Given the description of an element on the screen output the (x, y) to click on. 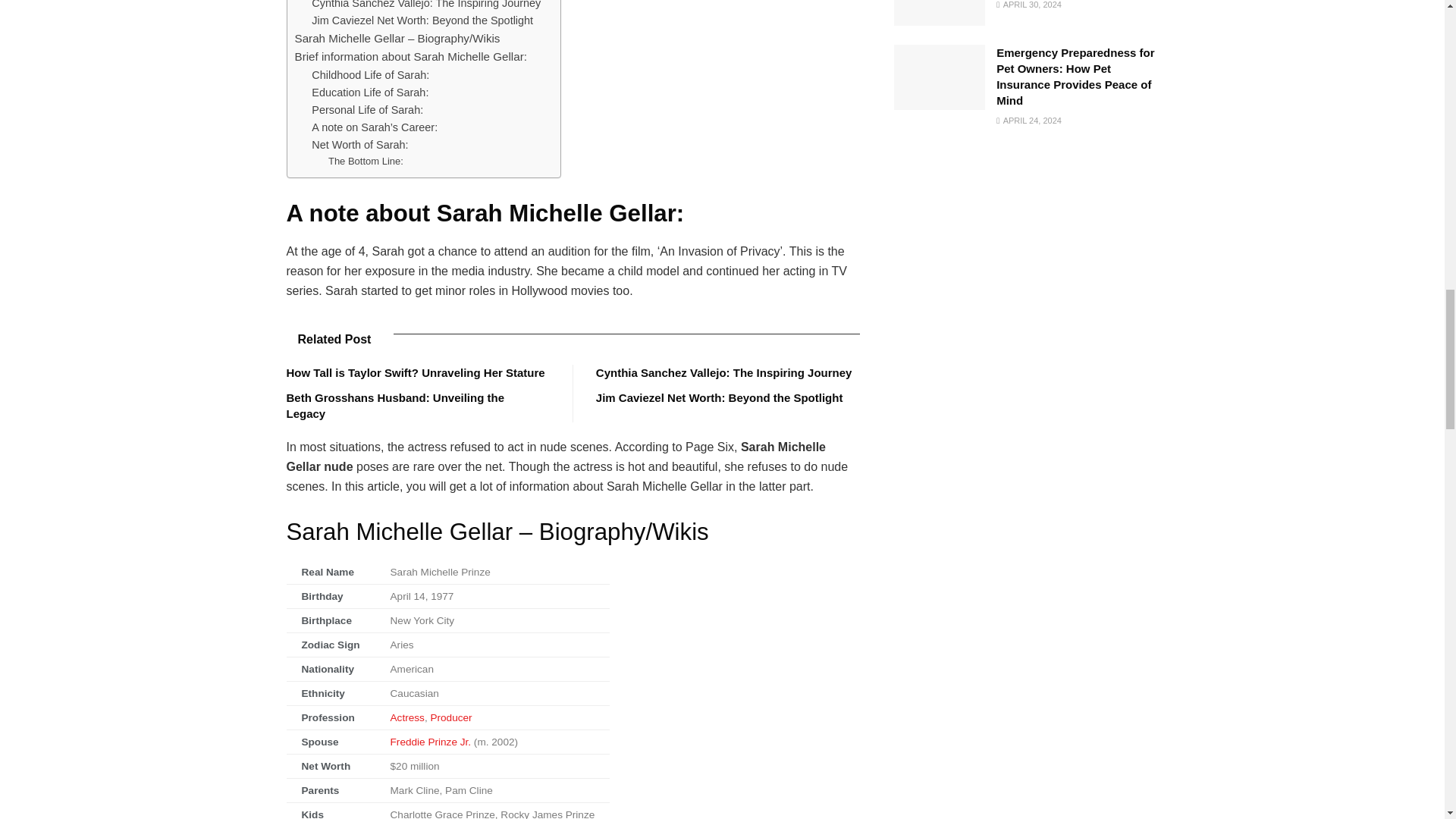
Net Worth of Sarah: (359, 144)
Education Life of Sarah: (369, 92)
Brief information about Sarah Michelle Gellar: (409, 56)
The Bottom Line: (366, 161)
Childhood Life of Sarah: (370, 75)
Personal Life of Sarah: (367, 109)
